Given the description of an element on the screen output the (x, y) to click on. 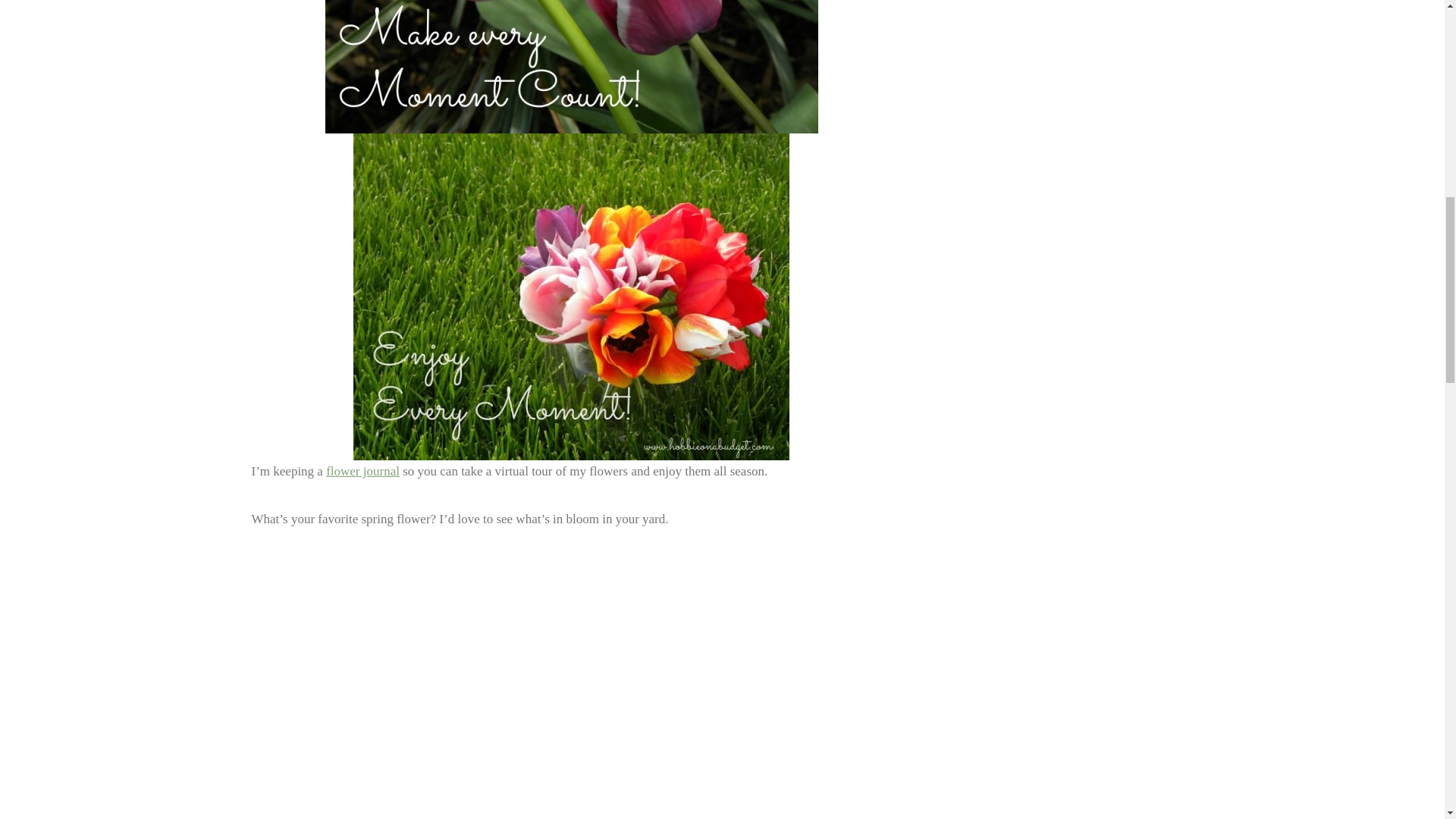
flower journal (362, 471)
